Given the description of an element on the screen output the (x, y) to click on. 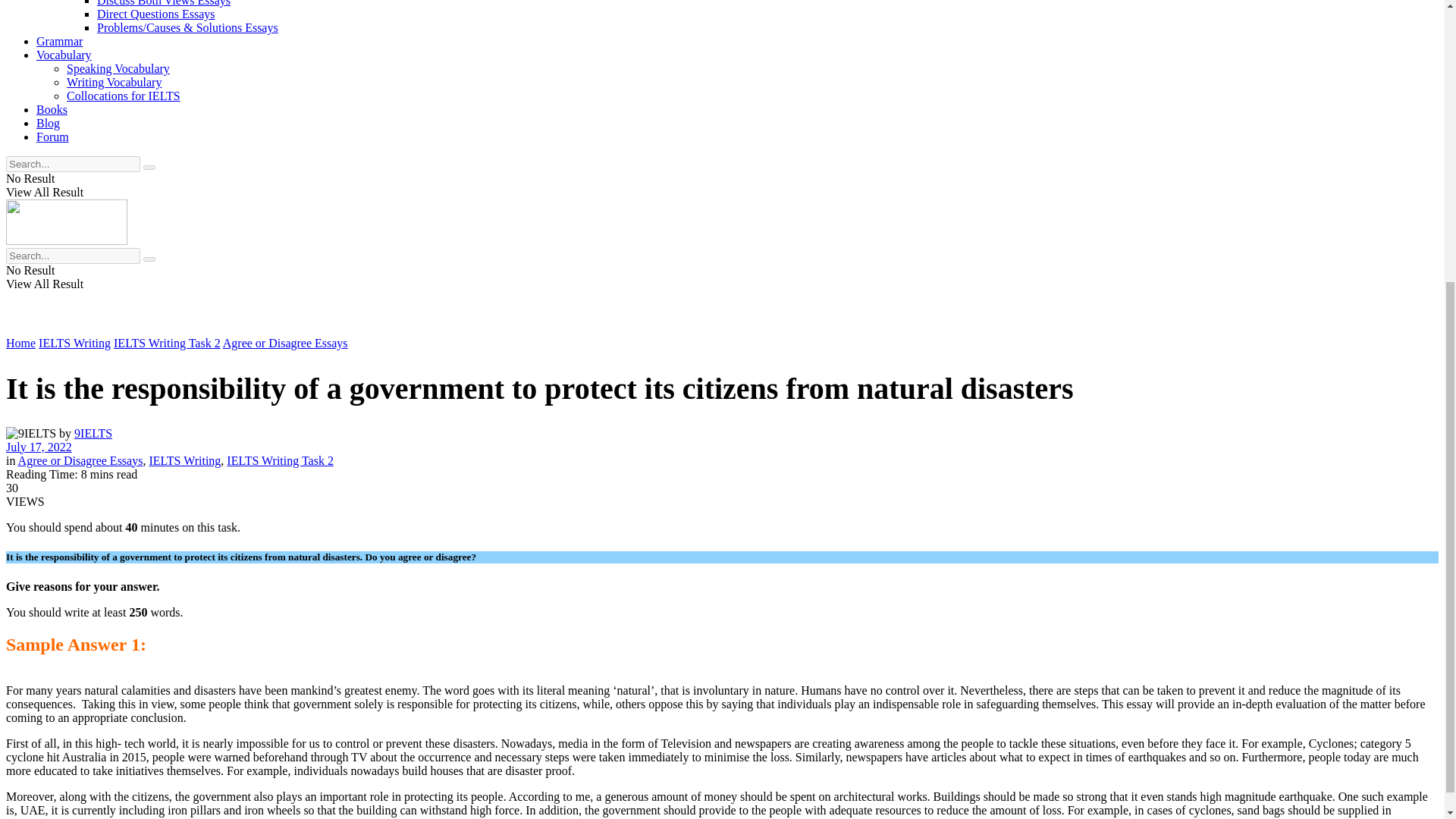
Vocabulary (63, 54)
Speaking Vocabulary (118, 68)
Blog (47, 123)
Books (51, 109)
Writing Vocabulary (113, 82)
Discuss Both Views Essays (163, 3)
Grammar (59, 41)
Collocations for IELTS (123, 95)
Direct Questions Essays (156, 13)
